Given the description of an element on the screen output the (x, y) to click on. 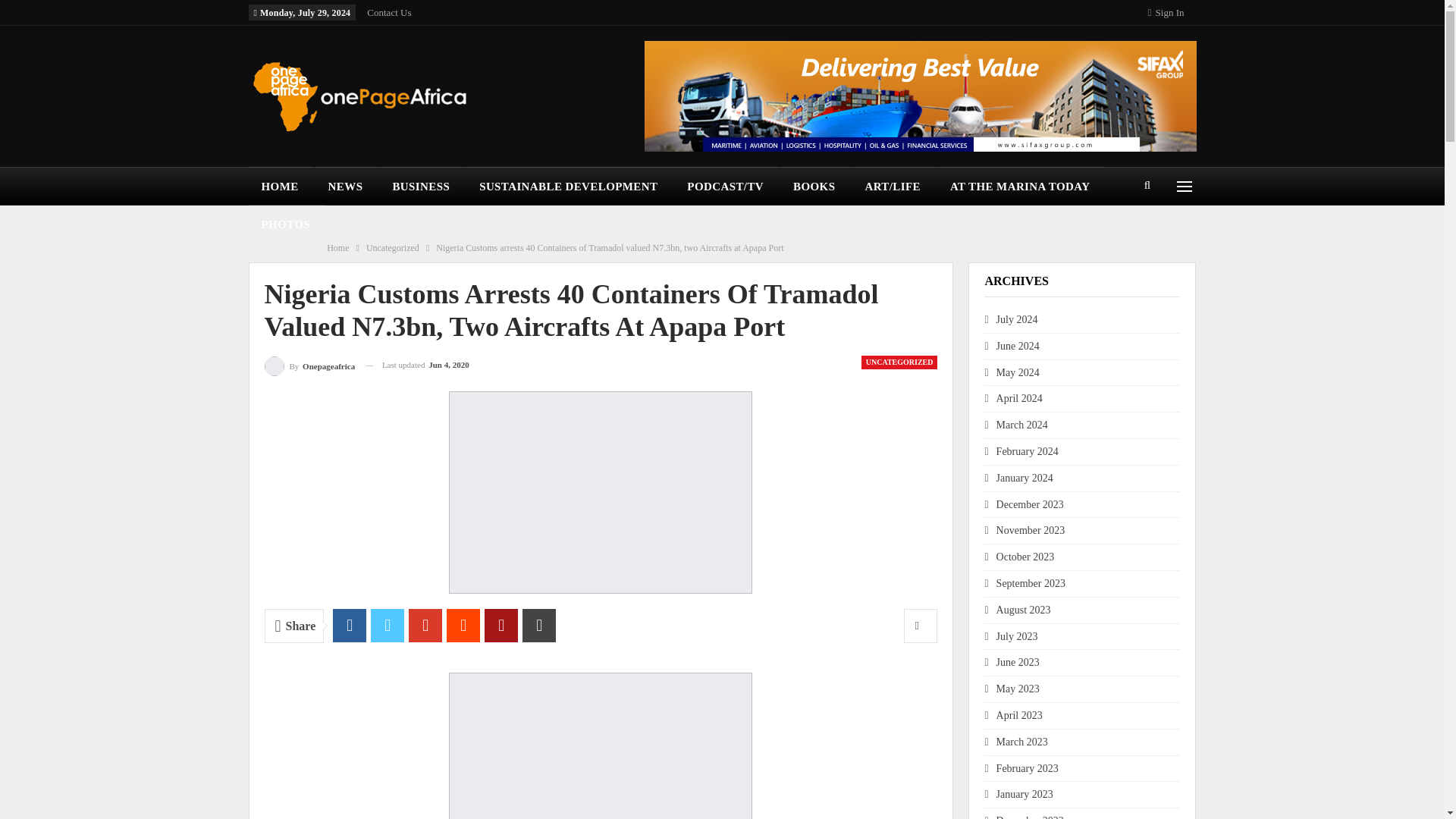
By Onepageafrica (309, 364)
NEWS (346, 186)
Home (337, 247)
Sign In (1169, 12)
SUSTAINABLE DEVELOPMENT (568, 186)
PHOTOS (287, 224)
HOME (281, 186)
BUSINESS (421, 186)
UNCATEGORIZED (899, 362)
AT THE MARINA TODAY (1021, 186)
BOOKS (815, 186)
Browse Author Articles (309, 364)
Contact Us (388, 12)
Uncategorized (392, 247)
